Given the description of an element on the screen output the (x, y) to click on. 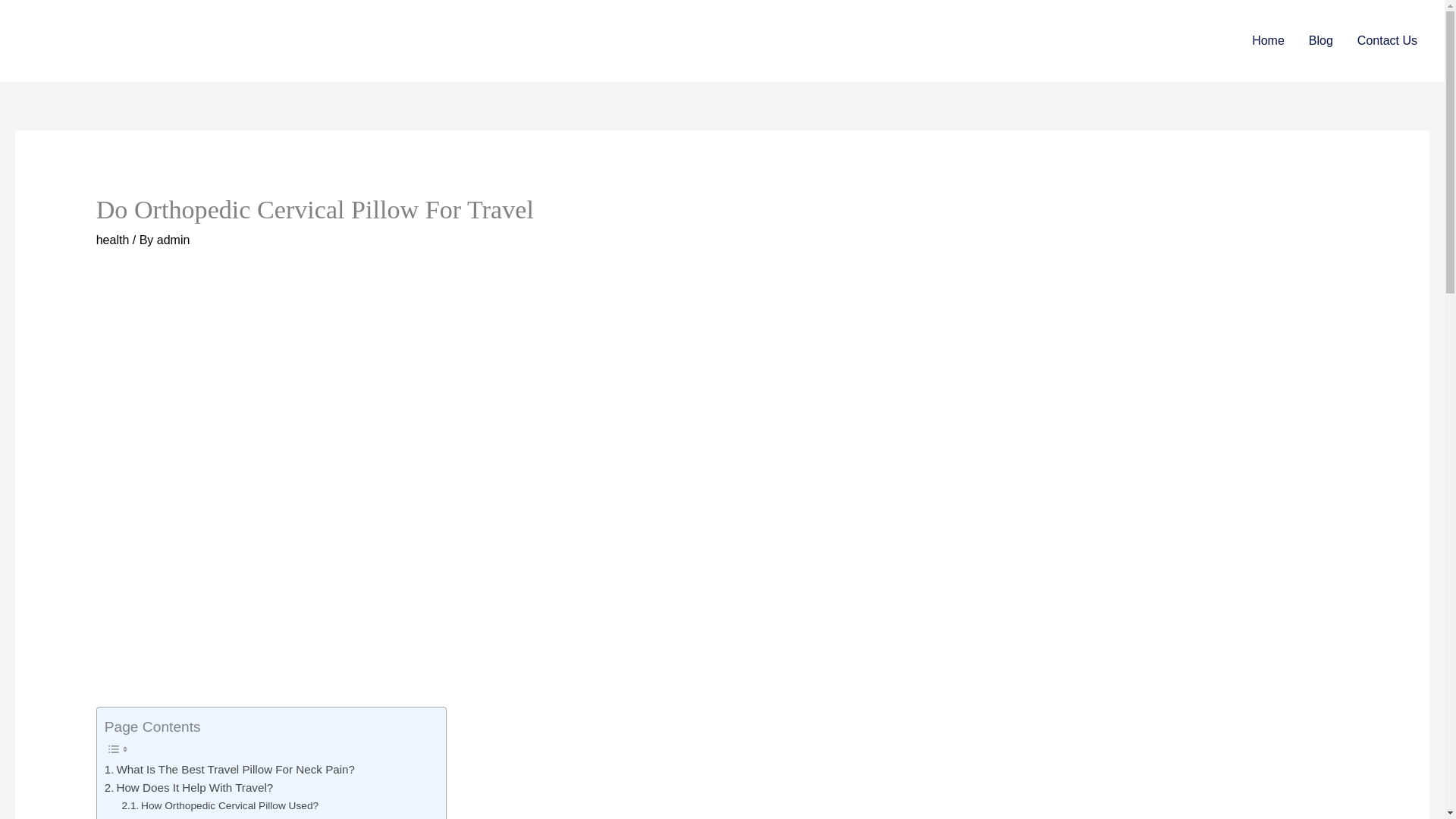
The Different Types Of Orthopedic Cervical Pillow (245, 816)
How Orthopedic Cervical Pillow Used? (220, 805)
How Does It Help With Travel? (188, 787)
How Does It Help With Travel? (188, 787)
View all posts by admin (173, 239)
How Orthopedic Cervical Pillow Used? (220, 805)
The Different Types Of Orthopedic Cervical Pillow (245, 816)
admin (173, 239)
health (112, 239)
What Is The Best Travel Pillow For Neck Pain? (229, 769)
What Is The Best Travel Pillow For Neck Pain? (229, 769)
Contact Us (1387, 40)
